Given the description of an element on the screen output the (x, y) to click on. 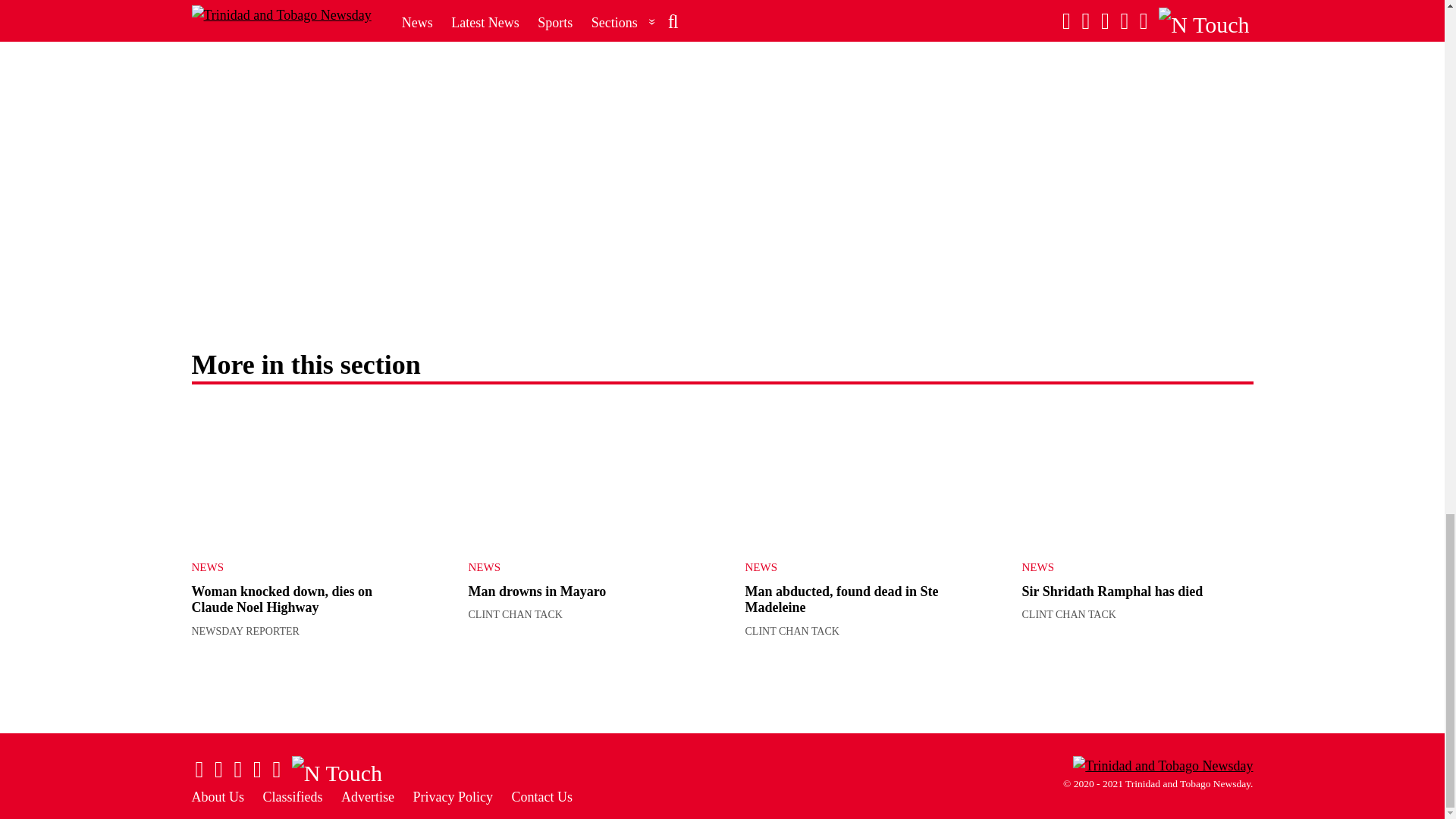
Man drowns in Mayaro (584, 475)
Man abducted, found dead in Ste Madeleine (859, 475)
NEWS (572, 567)
NEWS (294, 567)
CLINT CHAN TACK (515, 614)
Woman knocked down, dies on Claude Noel Highway (281, 599)
Woman knocked down, dies on Claude Noel Highway (306, 475)
Man drowns in Mayaro (537, 590)
Sir Shridath Ramphal has died (1137, 475)
NEWSDAY REPORTER (244, 631)
